Given the description of an element on the screen output the (x, y) to click on. 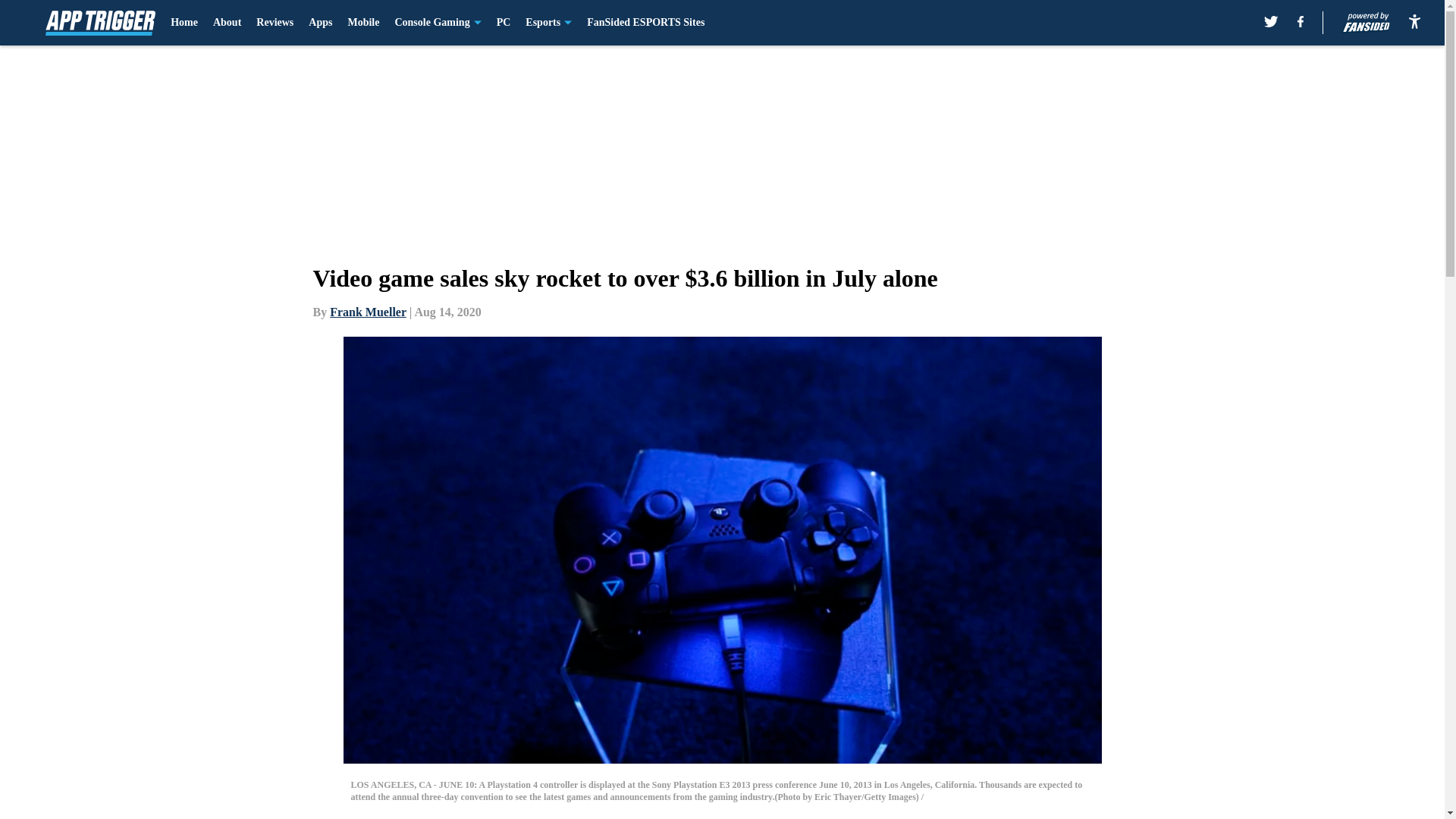
About (226, 22)
Reviews (275, 22)
FanSided ESPORTS Sites (645, 22)
Home (184, 22)
Frank Mueller (368, 311)
PC (503, 22)
Apps (319, 22)
Mobile (362, 22)
